Given the description of an element on the screen output the (x, y) to click on. 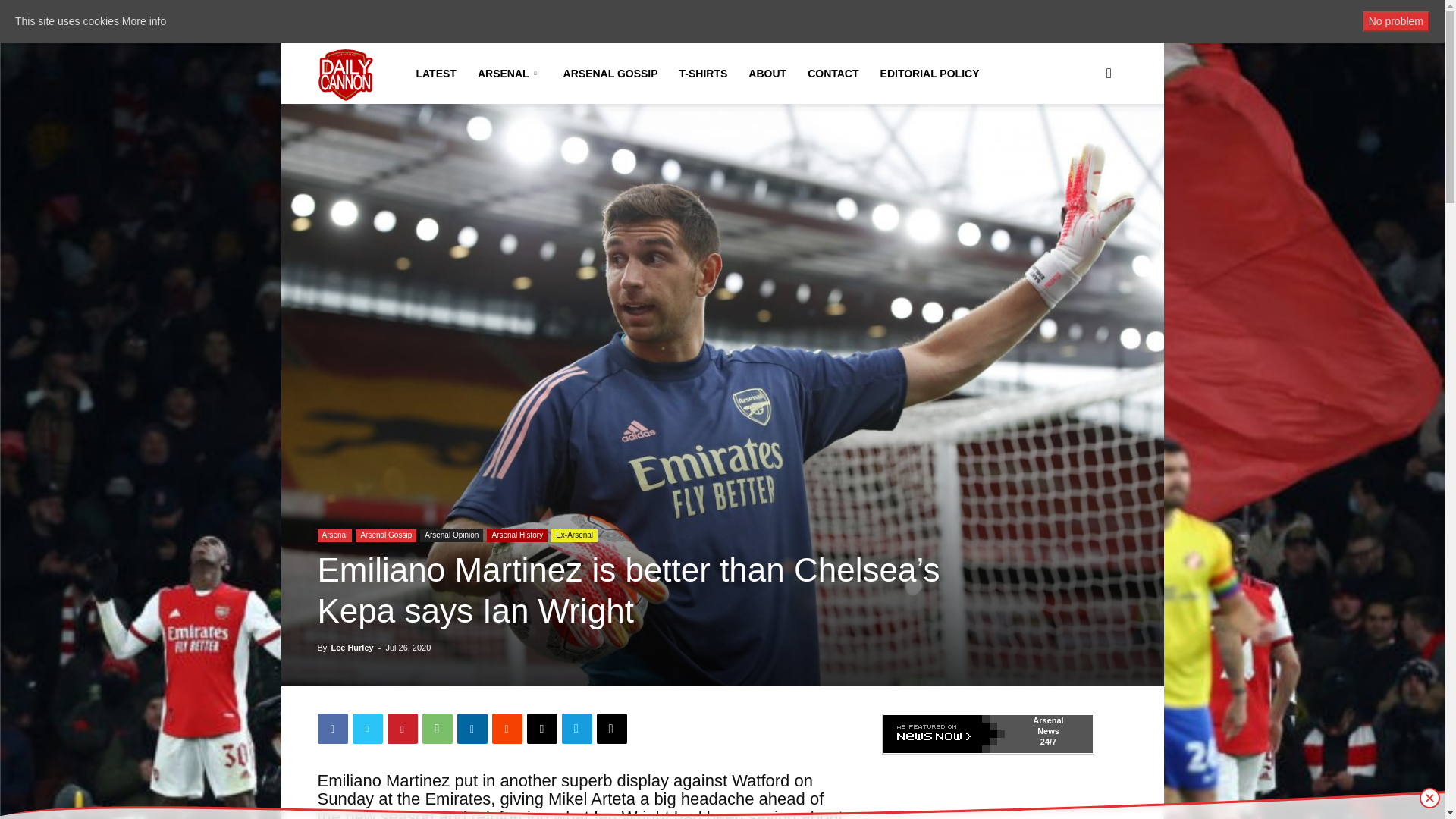
WhatsApp (436, 728)
Linkedin (471, 728)
Email (540, 728)
Pinterest (401, 728)
Copy URL (610, 728)
ReddIt (506, 728)
Facebook (332, 728)
Telegram (575, 728)
Twitter (366, 728)
Search (1085, 146)
